Given the description of an element on the screen output the (x, y) to click on. 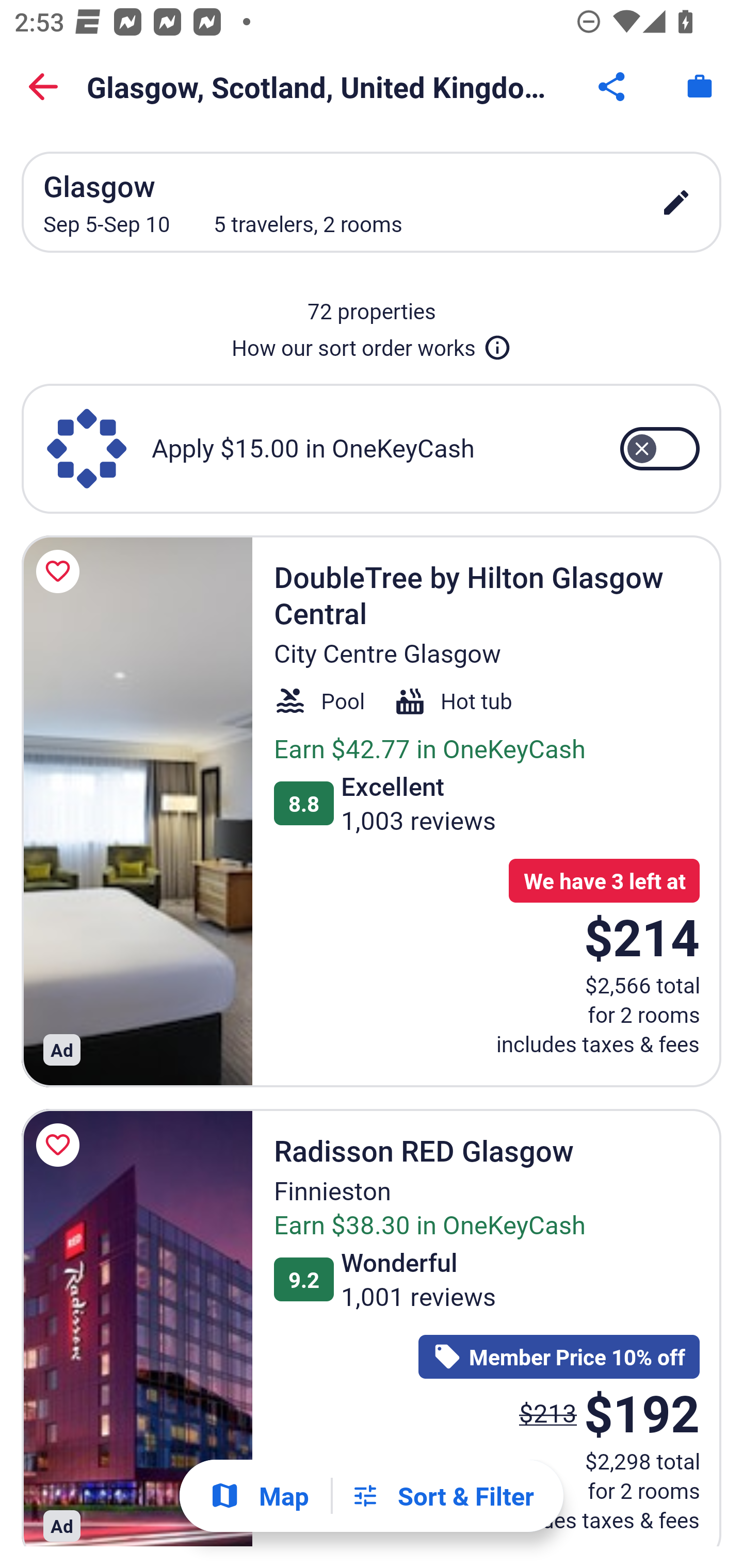
Back (43, 86)
Share Button (612, 86)
Trips. Button (699, 86)
Glasgow Sep 5-Sep 10 5 travelers, 2 rooms edit (371, 202)
How our sort order works (371, 344)
DoubleTree by Hilton Glasgow Central (136, 810)
Save Radisson RED Glasgow to a trip (61, 1145)
Radisson RED Glasgow (136, 1327)
$213 The price was $213 (547, 1412)
Filters Sort & Filter Filters Button (442, 1495)
Show map Map Show map Button (258, 1495)
